Given the description of an element on the screen output the (x, y) to click on. 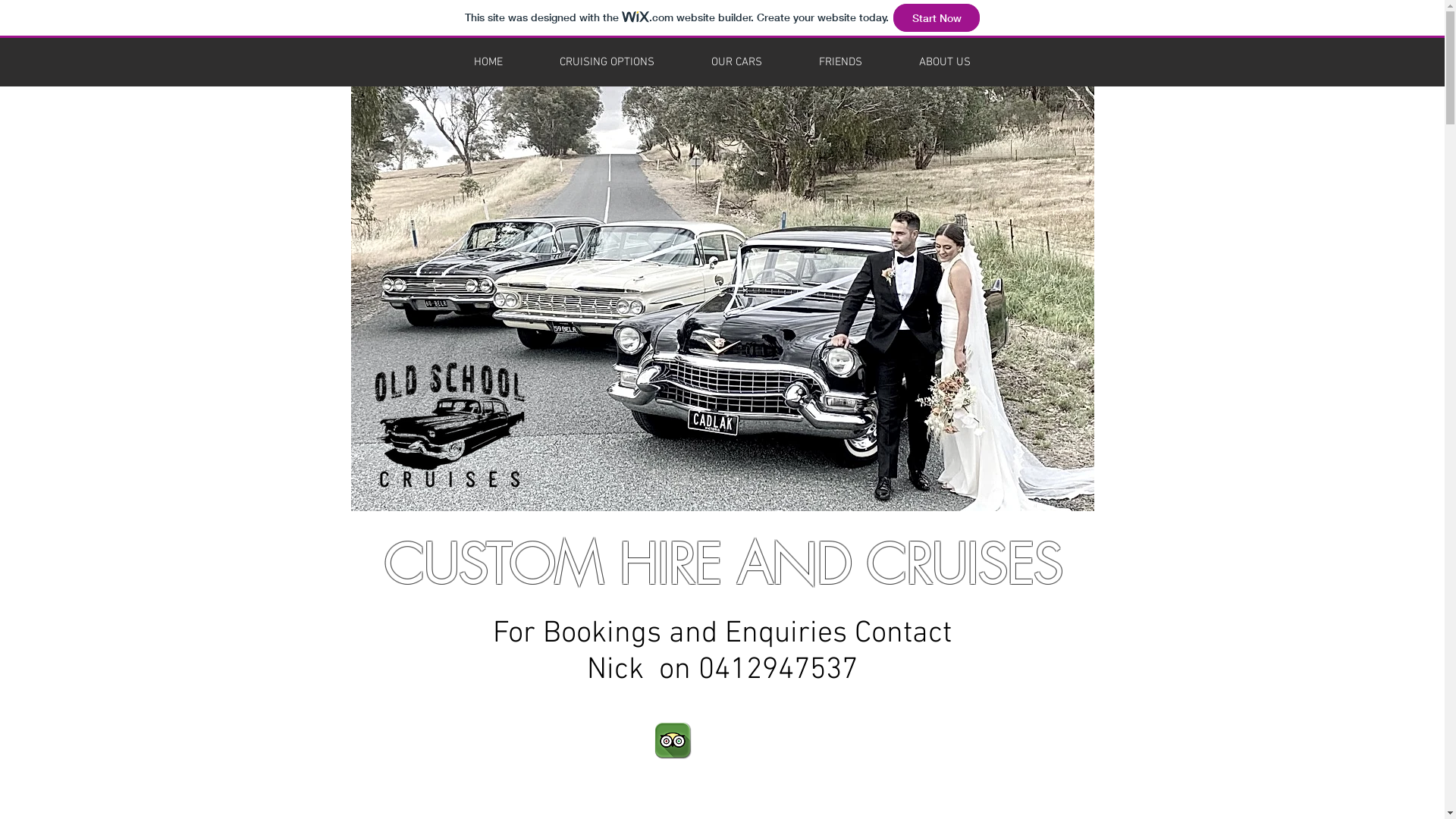
OUR CARS Element type: text (736, 62)
CRUISING OPTIONS Element type: text (606, 62)
ABOUT US Element type: text (944, 62)
HOME Element type: text (488, 62)
FRIENDS Element type: text (840, 62)
